Given the description of an element on the screen output the (x, y) to click on. 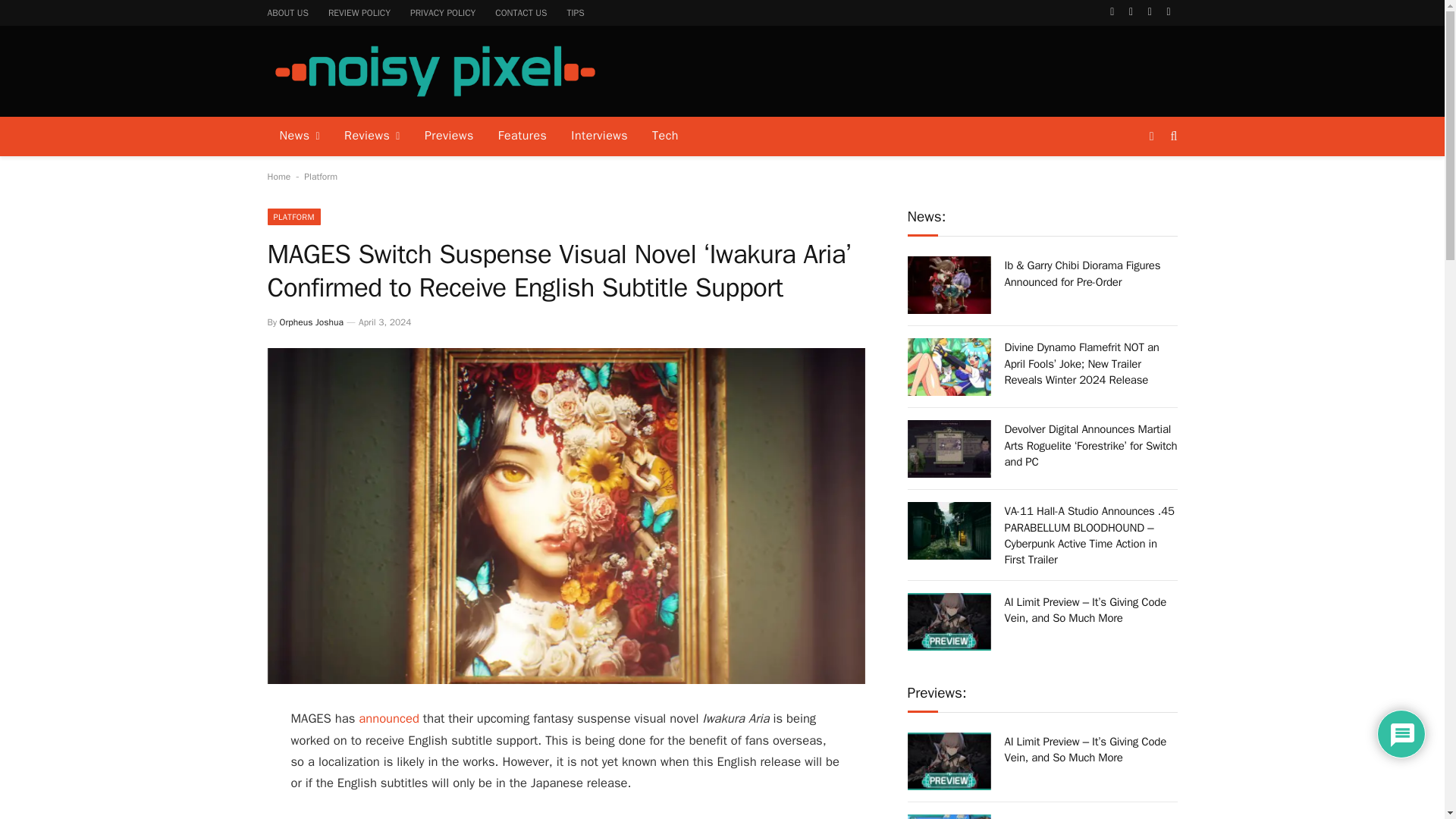
ABOUT US (287, 12)
PRIVACY POLICY (442, 12)
Home (277, 176)
Posts by Orpheus Joshua (311, 322)
Features (522, 136)
Reviews (371, 136)
Orpheus Joshua (311, 322)
Interviews (599, 136)
Switch to Dark Design - easier on eyes. (1151, 136)
Platform (320, 176)
Previews (449, 136)
Noisy Pixel (434, 71)
REVIEW POLICY (359, 12)
TIPS (575, 12)
PLATFORM (293, 216)
